Given the description of an element on the screen output the (x, y) to click on. 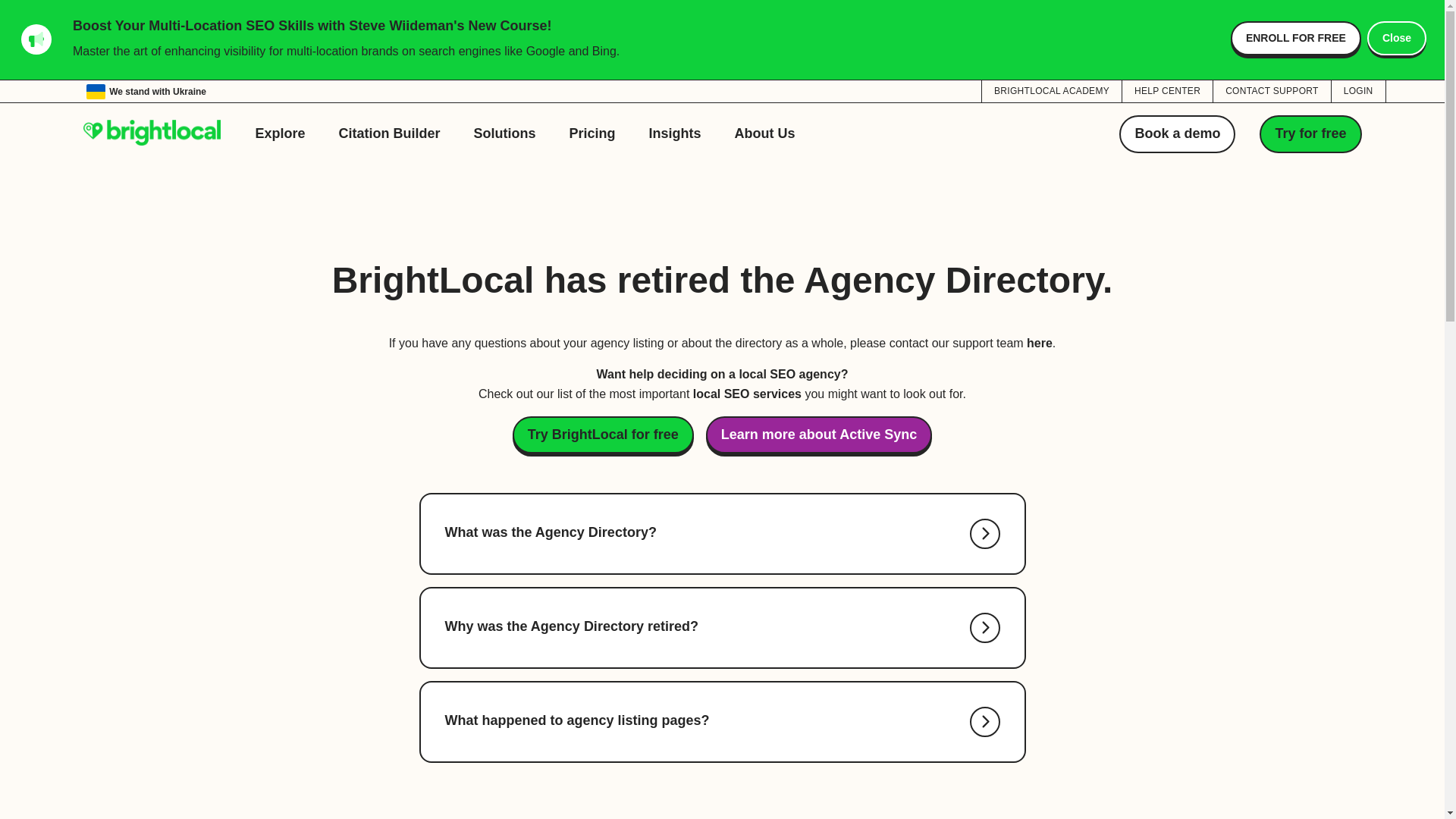
We stand with Ukraine (145, 91)
Close (1396, 38)
ENROLL FOR FREE (1295, 38)
BRIGHTLOCAL ACADEMY (1051, 90)
HELP CENTER (1167, 90)
CONTACT SUPPORT (1271, 90)
Solutions (505, 134)
Explore (279, 134)
LOGIN (1359, 90)
Citation Builder (390, 134)
ENROLL FOR FREE (1295, 38)
